Given the description of an element on the screen output the (x, y) to click on. 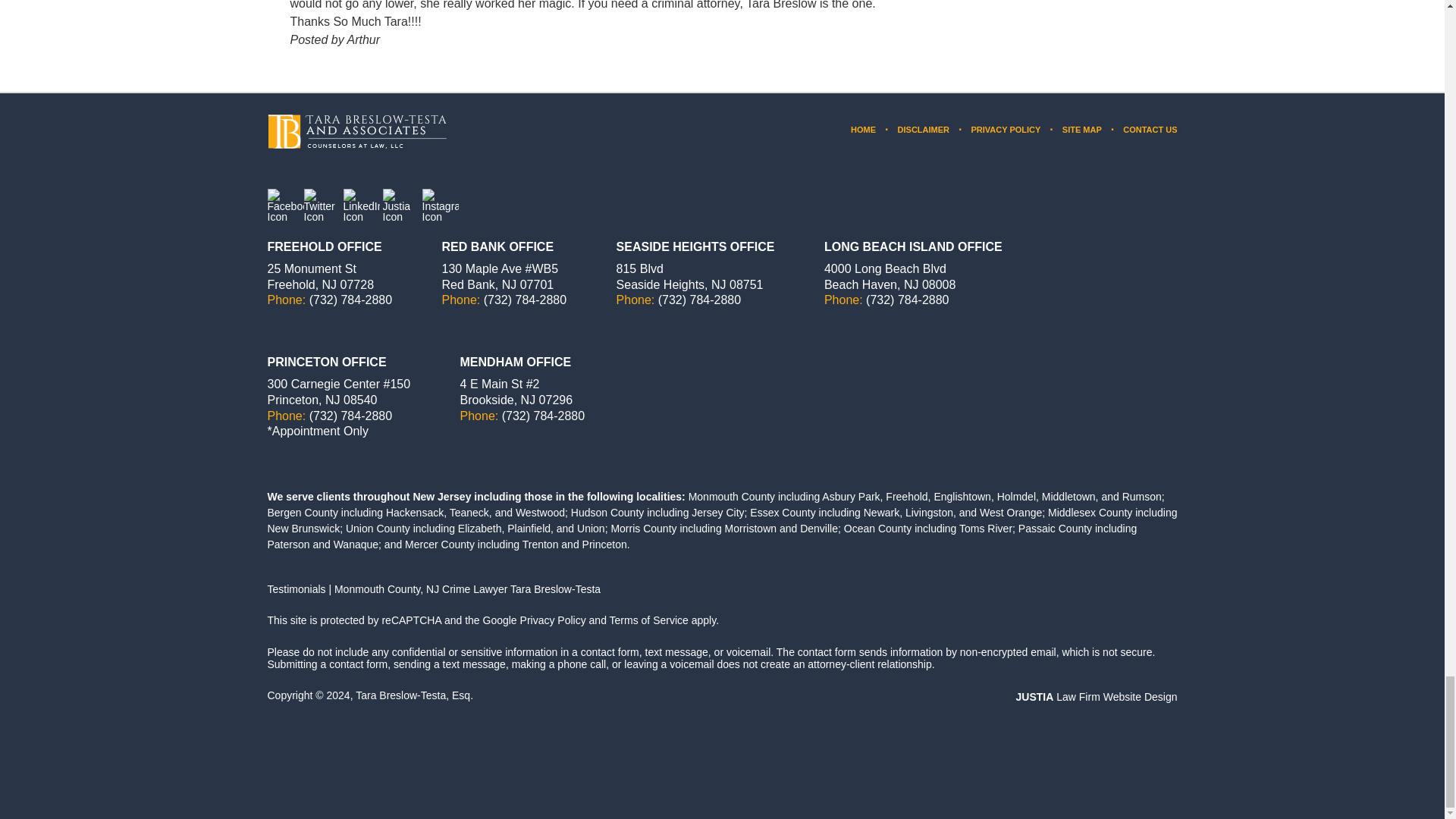
Twitter (320, 207)
LinkedIn (360, 207)
Justia (400, 207)
Instagram (440, 207)
Facebook (284, 207)
